Given the description of an element on the screen output the (x, y) to click on. 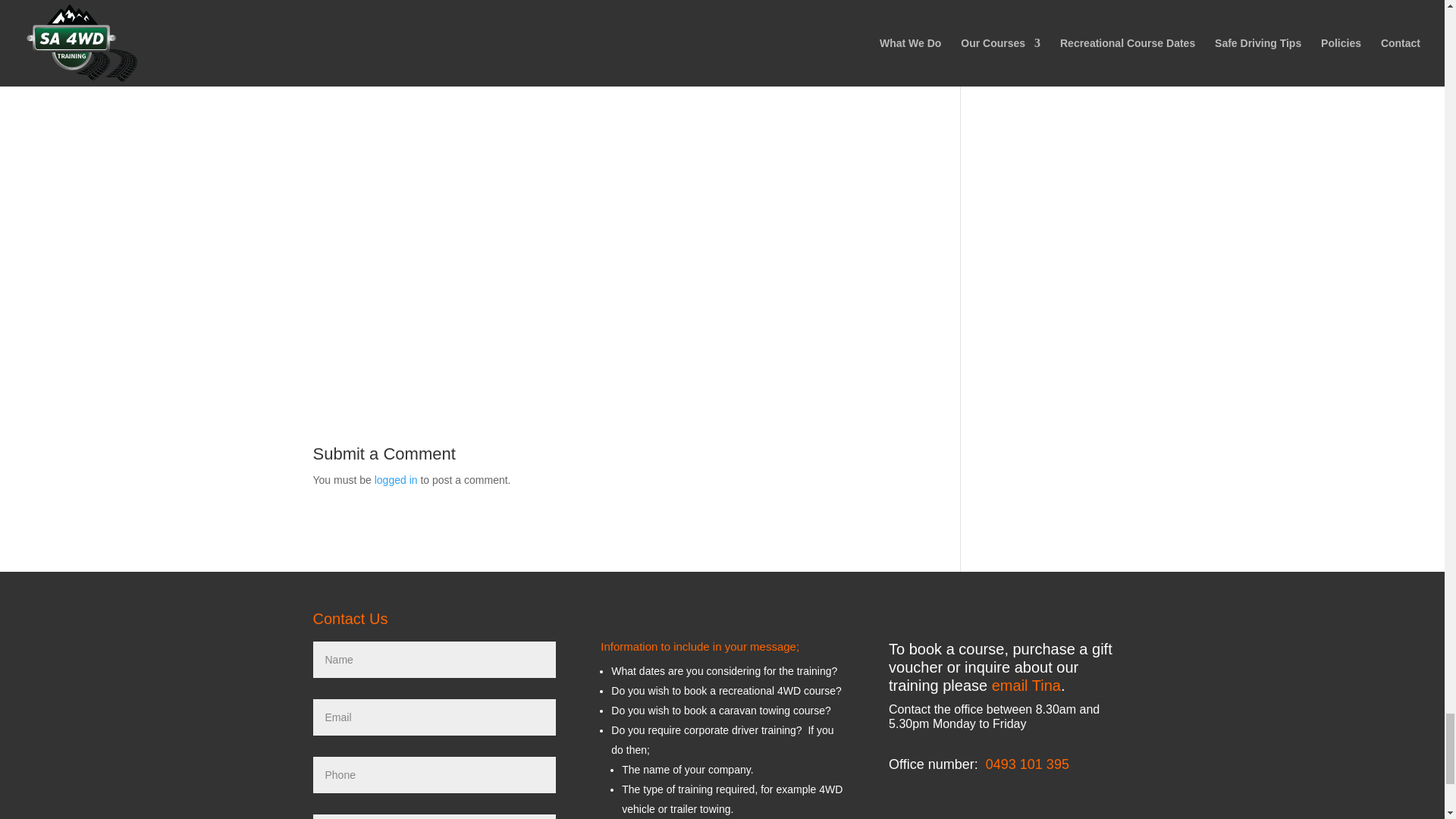
logged in (395, 480)
